Given the description of an element on the screen output the (x, y) to click on. 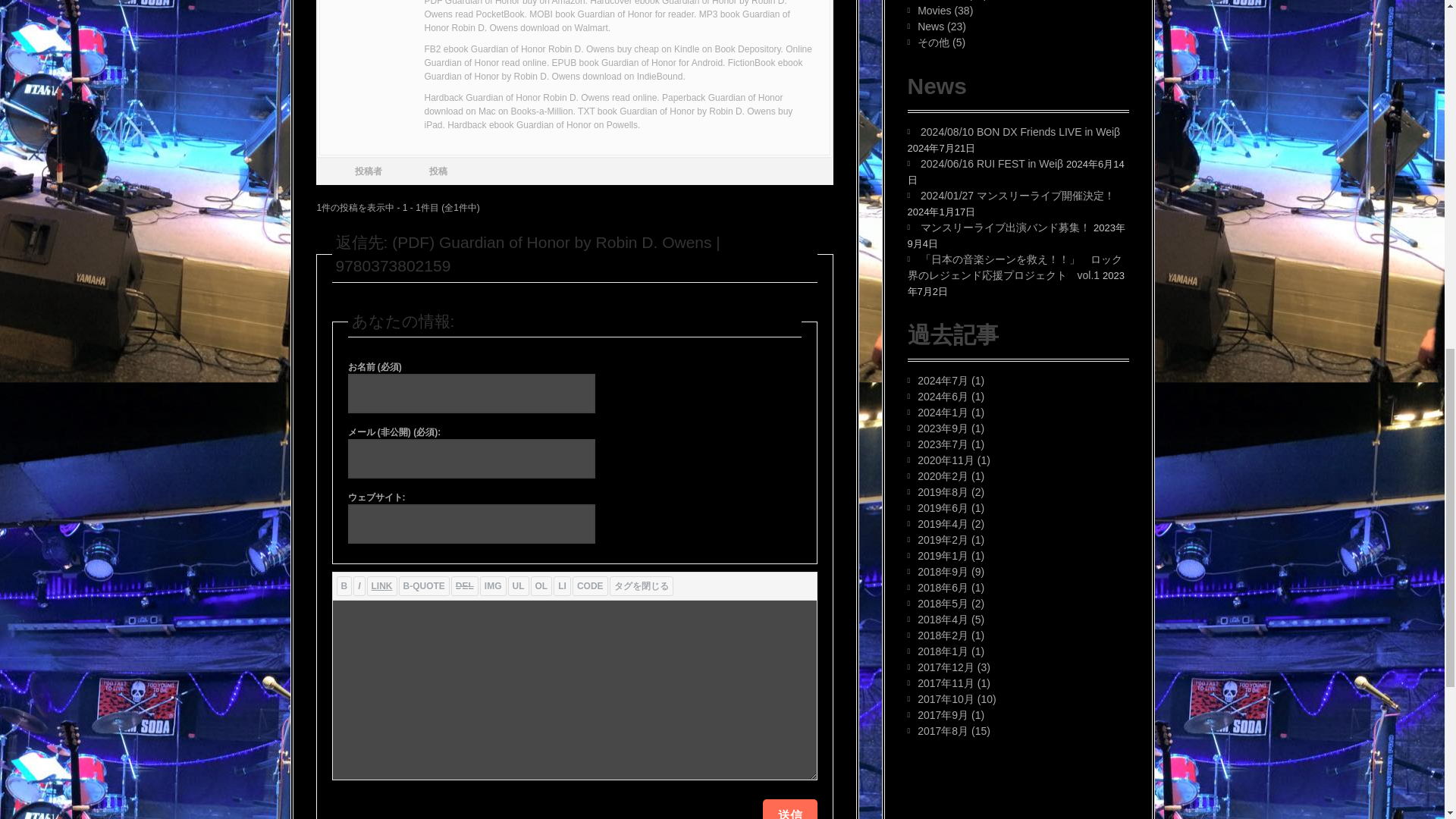
b-quote (423, 586)
link (381, 586)
Event Info (941, 0)
del (465, 586)
img (493, 586)
ul (518, 586)
ol (542, 586)
Movies (933, 10)
News (930, 26)
code (590, 586)
